Given the description of an element on the screen output the (x, y) to click on. 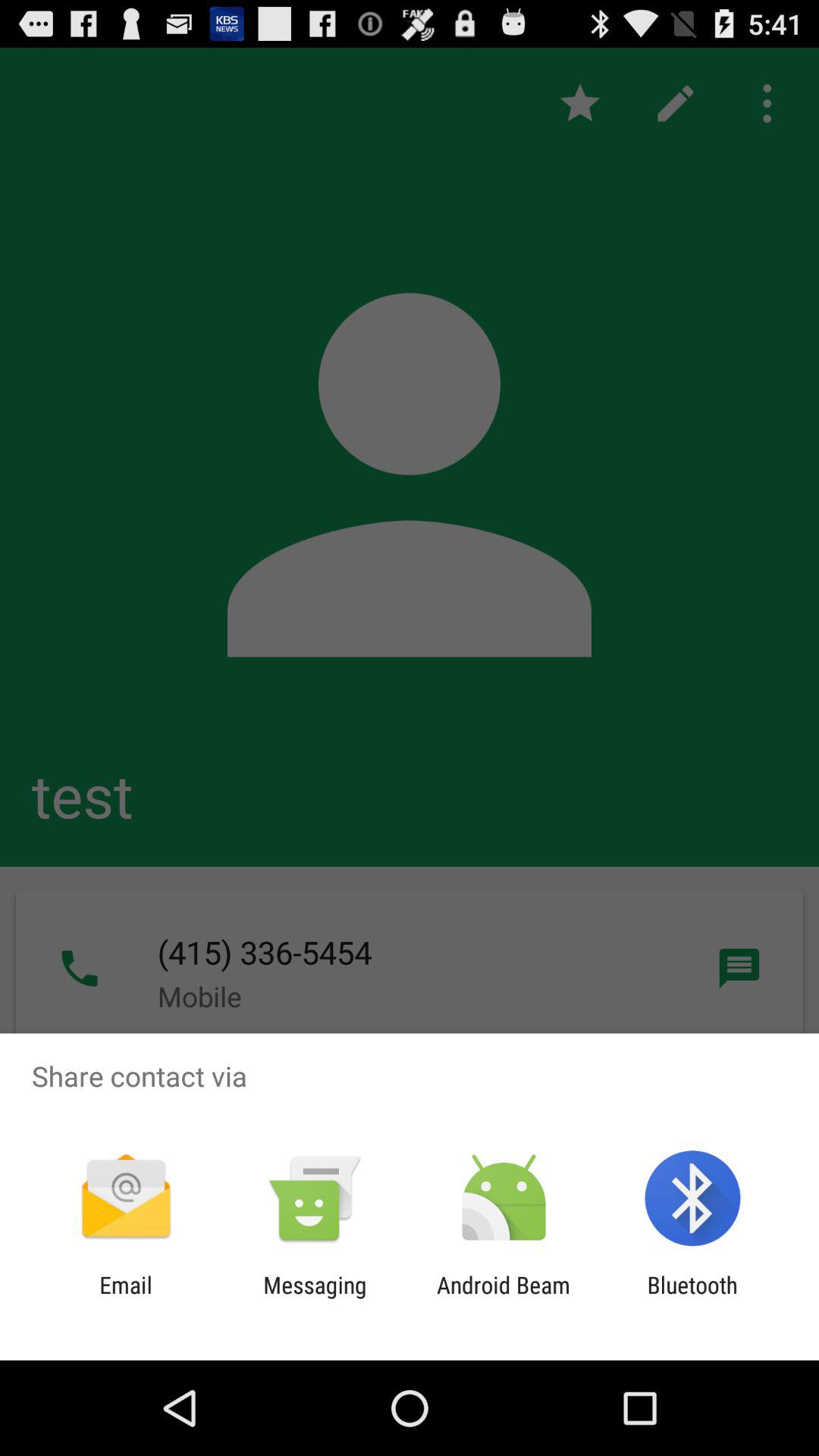
jump to the bluetooth (692, 1298)
